Given the description of an element on the screen output the (x, y) to click on. 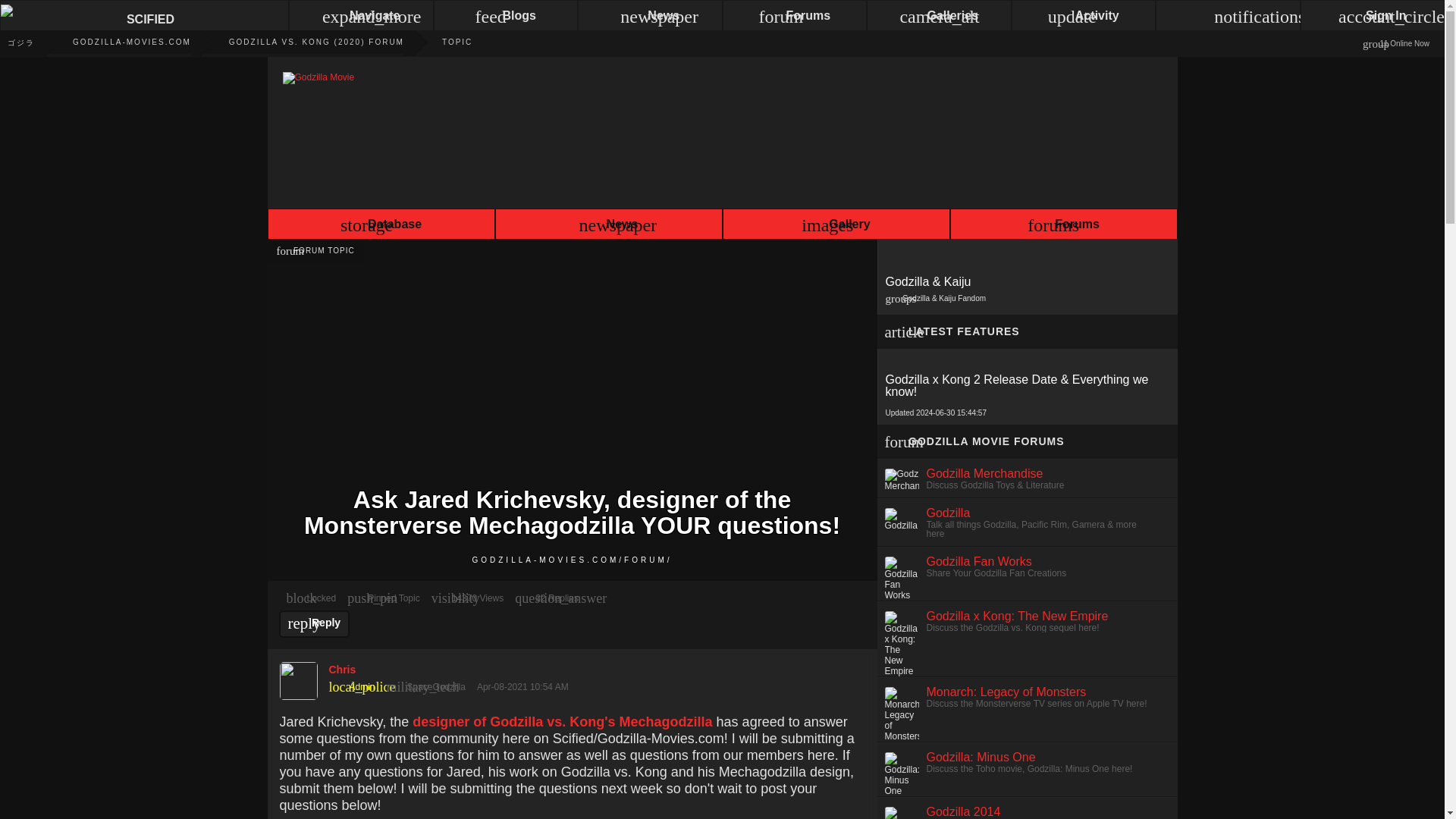
Forums (1062, 226)
Godzilla Movies News - Monsterverse (17, 43)
Godzilla Movie Info Database (380, 226)
Godzilla Fan Works (979, 561)
Reply to this! (314, 624)
Godzilla Merchandise (984, 472)
Godzilla: Minus One (980, 757)
GODZILLA-MOVIES.COM (112, 42)
Godzilla Movie News (112, 42)
Godzilla x Kong: The New Empire (1017, 615)
News (608, 226)
Godzilla Movie Image Galleries (835, 226)
Reply (314, 624)
TOPIC (437, 42)
